Given the description of an element on the screen output the (x, y) to click on. 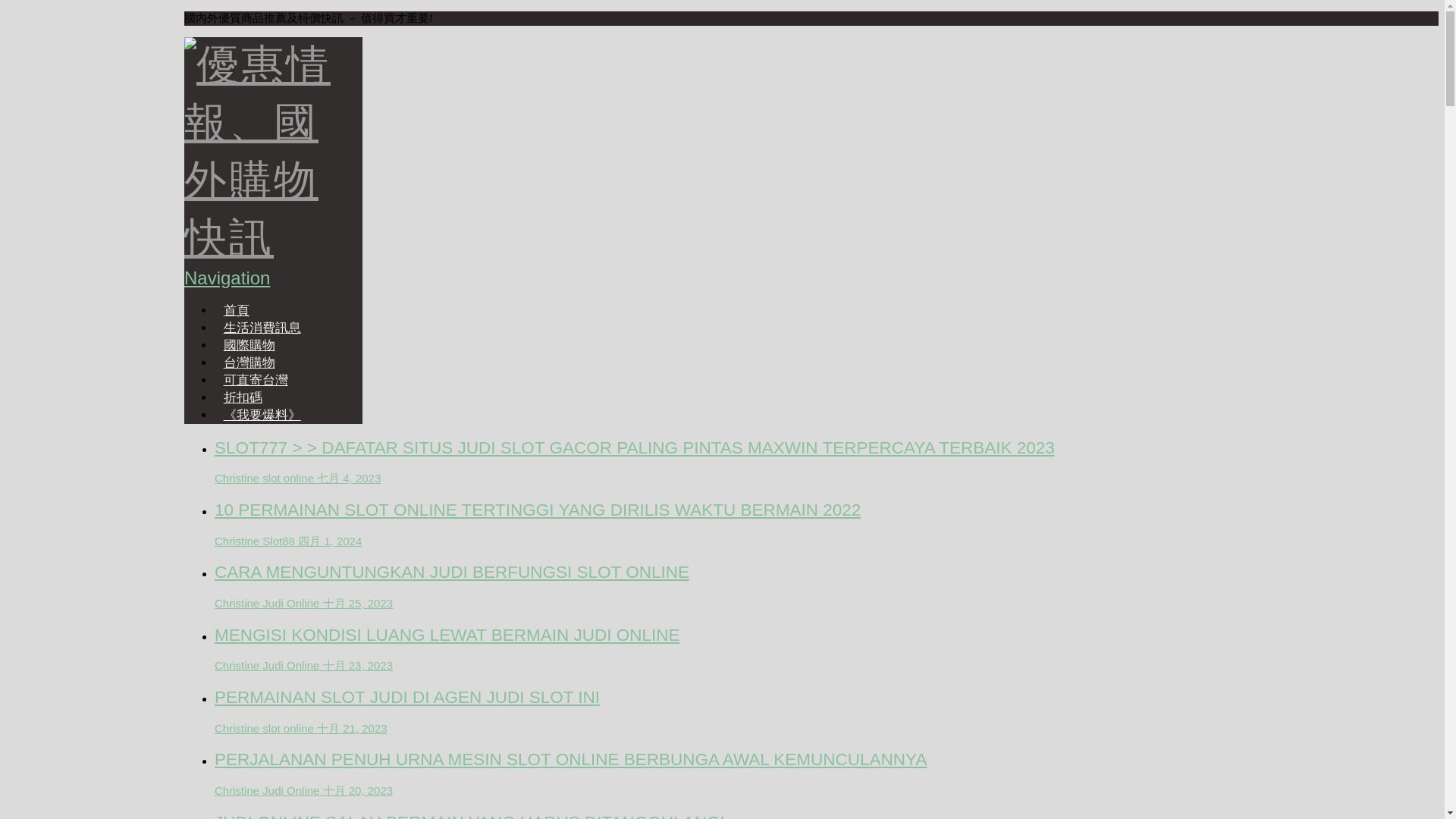
Navigation (262, 293)
